Given the description of an element on the screen output the (x, y) to click on. 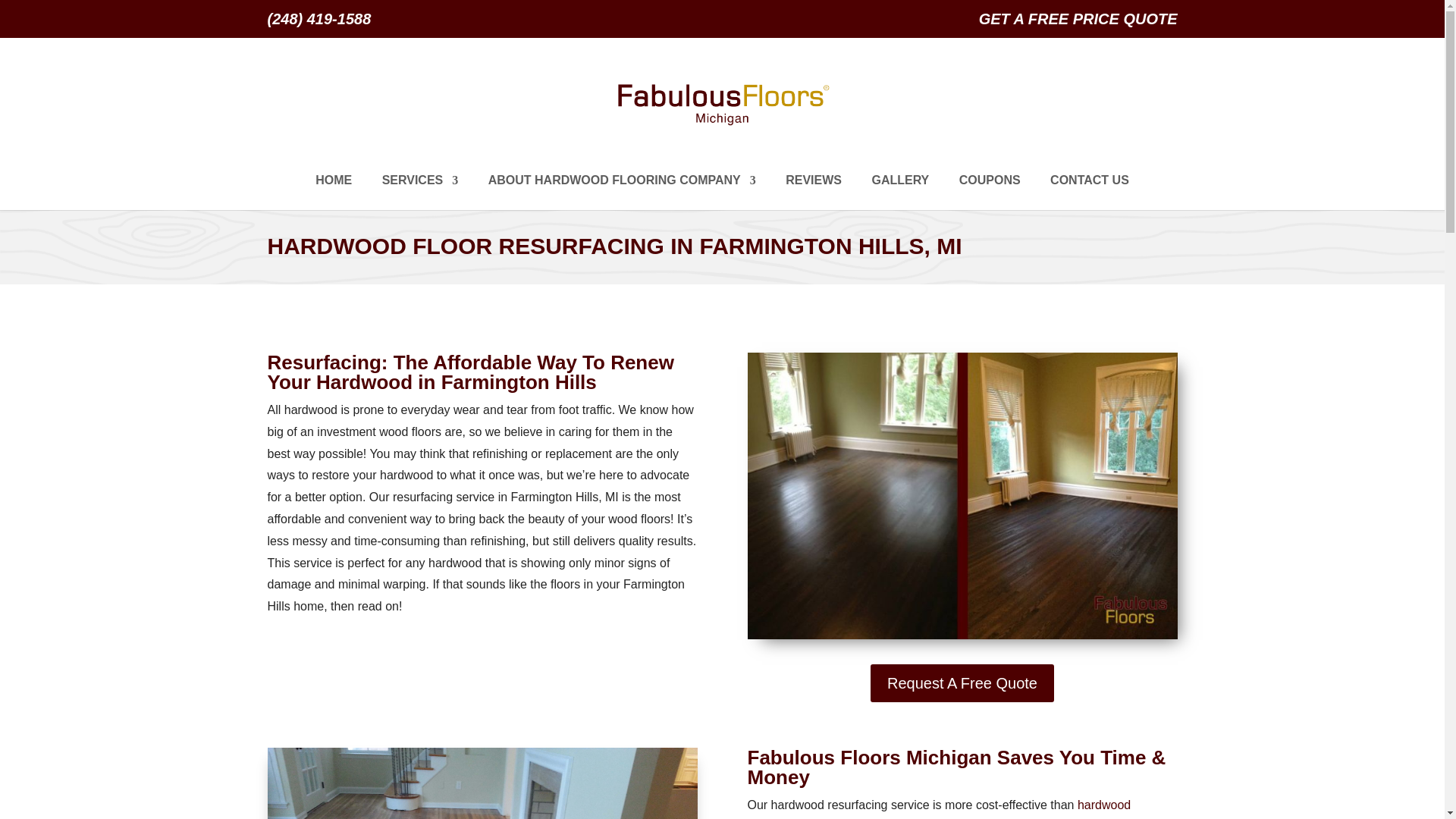
COUPONS (989, 192)
About Fabulous Floors Akron (621, 192)
REVIEWS (813, 192)
Request A Free Quote (962, 682)
hardwood refinishing (939, 808)
SERVICES (419, 192)
ABOUT HARDWOOD FLOORING COMPANY (621, 192)
HOME (333, 192)
Contact Us (1089, 192)
GET A FREE PRICE QUOTE (1077, 24)
CONTACT US (1089, 192)
GALLERY (899, 192)
Customer Testimonials (813, 192)
